Given the description of an element on the screen output the (x, y) to click on. 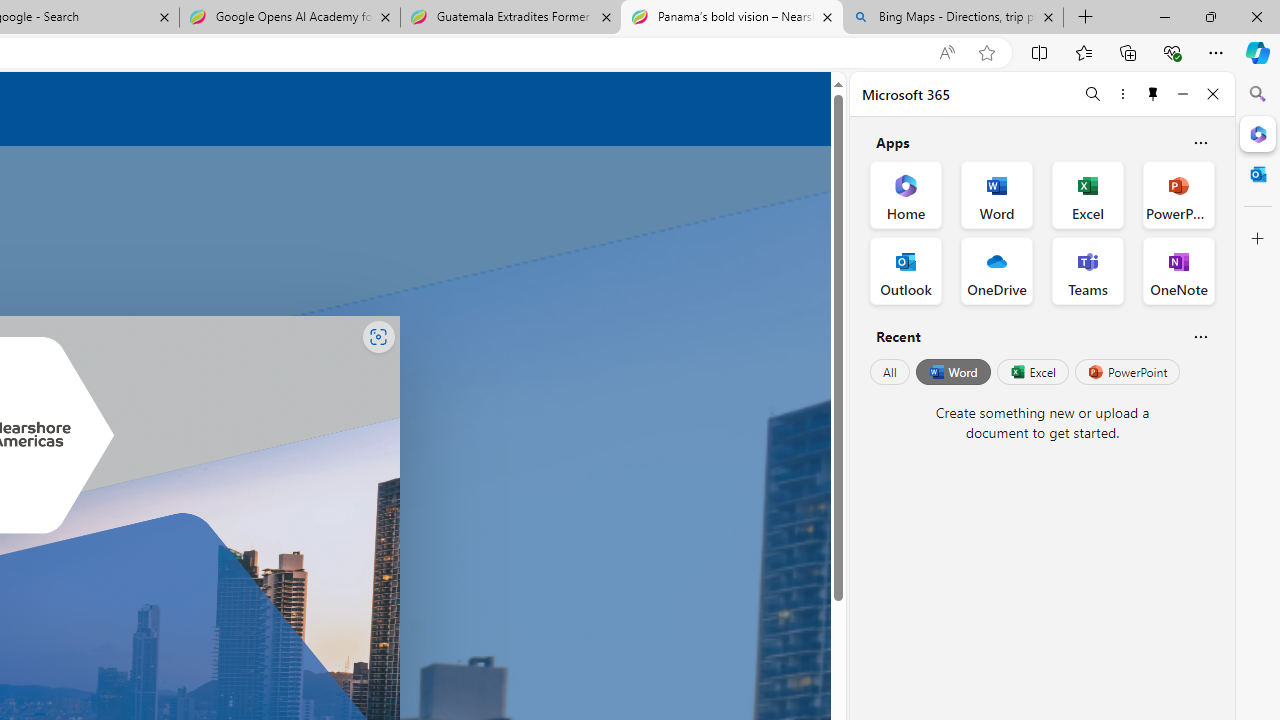
Outlook (1258, 174)
Is this helpful? (1200, 336)
OneDrive Office App (996, 270)
Teams Office App (1087, 270)
